Given the description of an element on the screen output the (x, y) to click on. 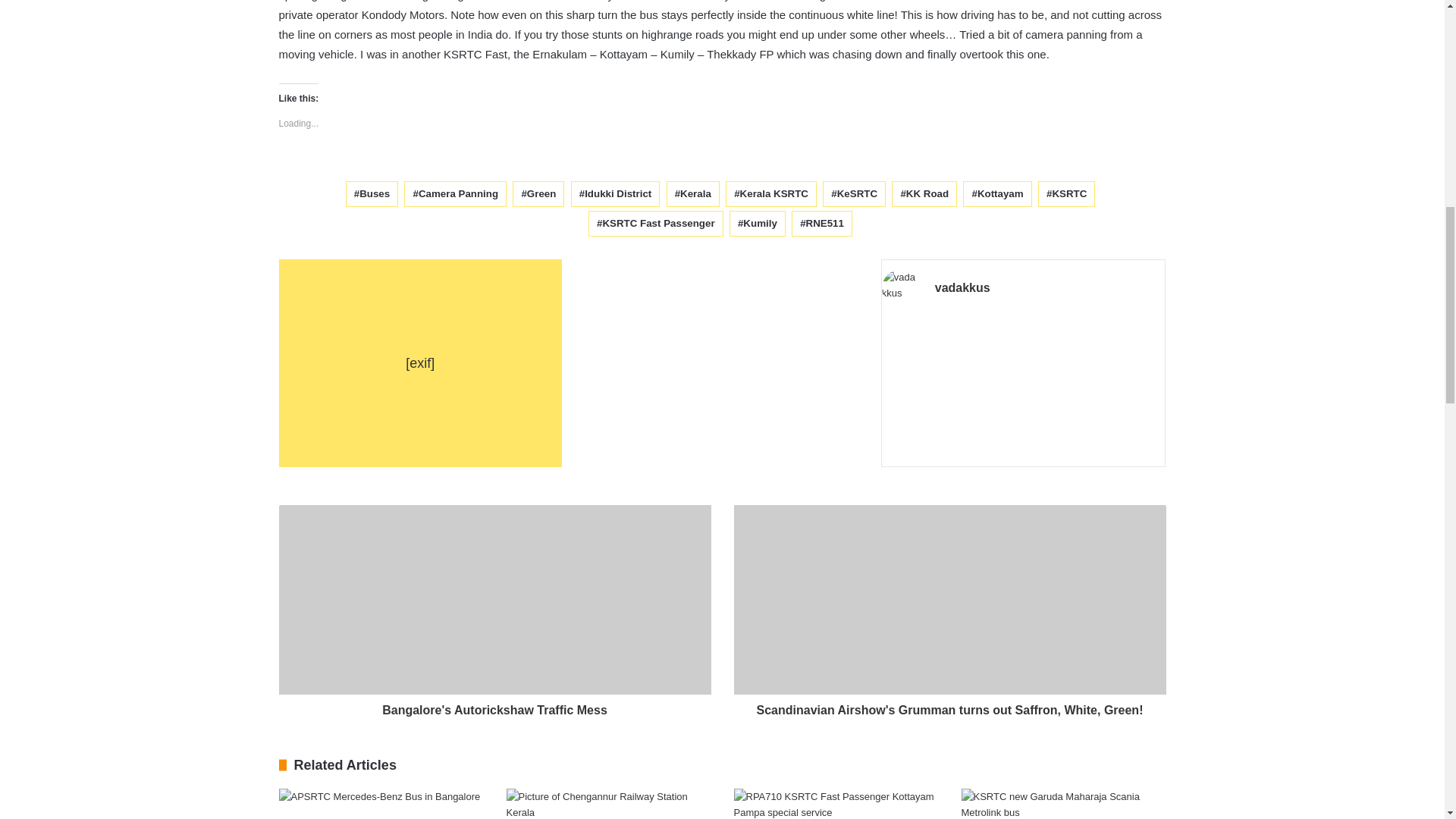
Buses (371, 193)
Kerala (692, 193)
Kerala KSRTC (770, 193)
KeSRTC (853, 193)
Kottayam (996, 193)
KSRTC (1066, 193)
KSRTC Fast Passenger (655, 223)
Green (538, 193)
KK Road (923, 193)
Idukki District (615, 193)
